Given the description of an element on the screen output the (x, y) to click on. 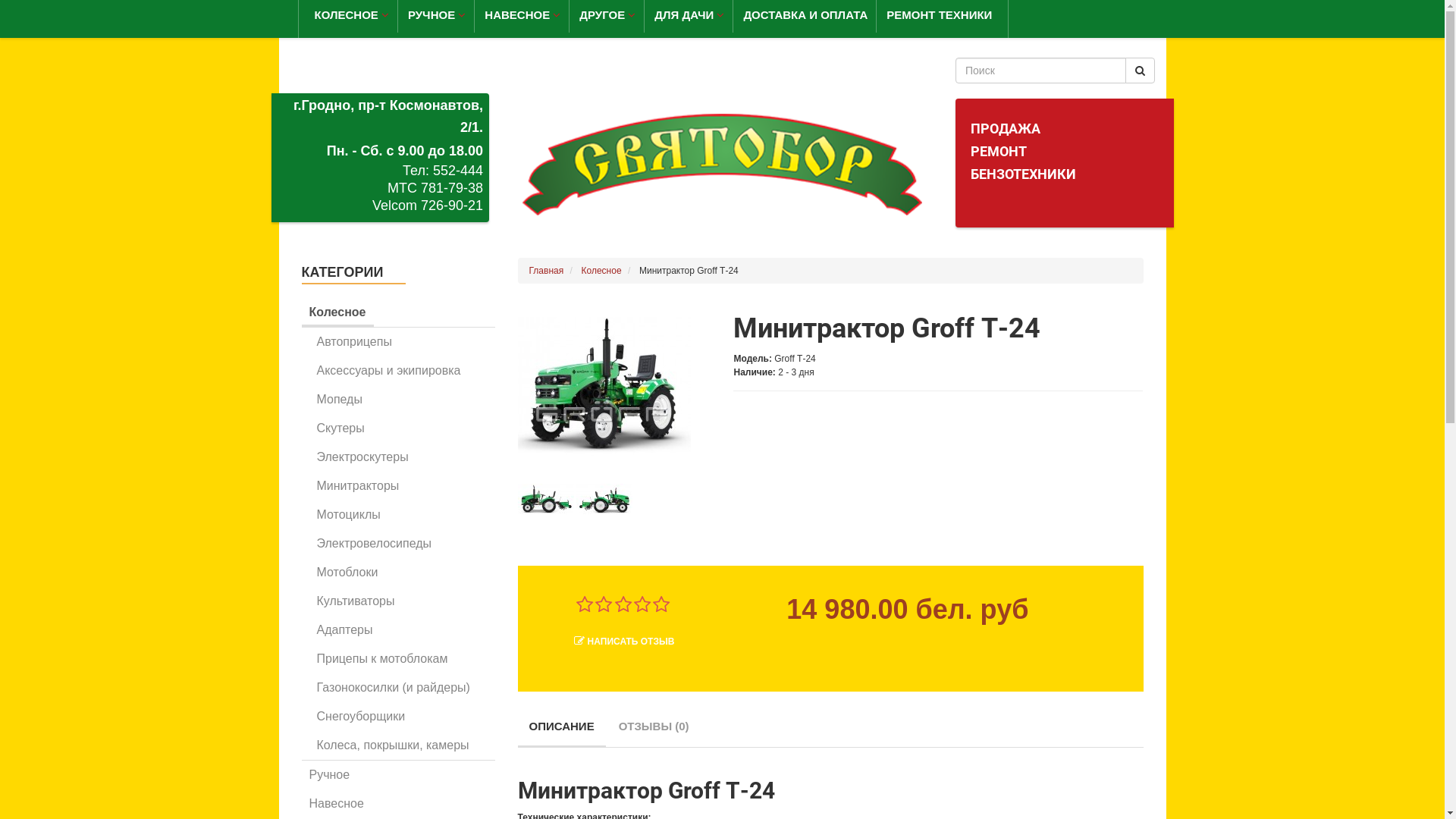
726-90-21 Element type: text (451, 205)
552-444 Element type: text (458, 170)
781-79-38 Element type: text (451, 187)
